Given the description of an element on the screen output the (x, y) to click on. 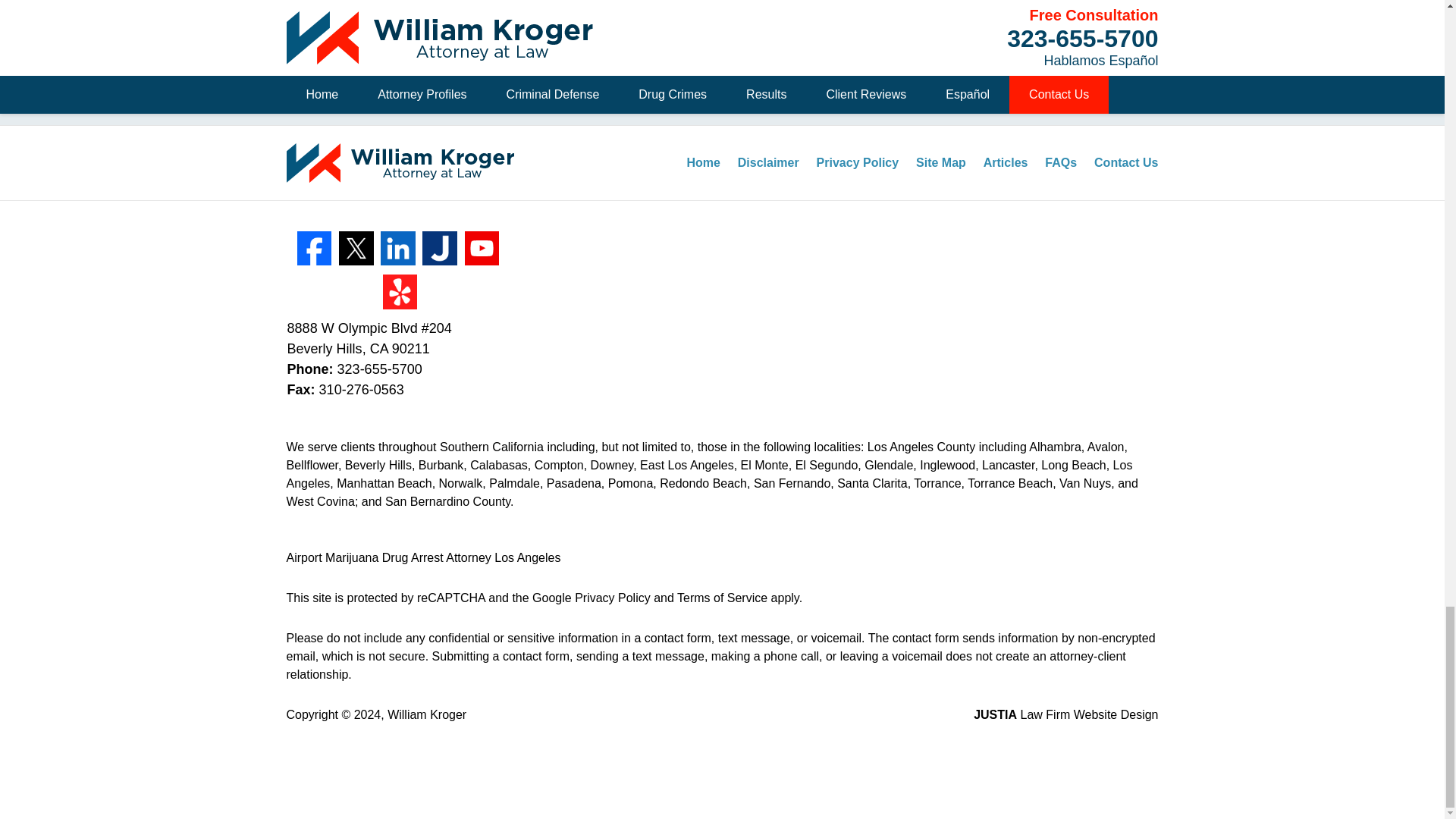
LinkedIn (397, 248)
Twitter (356, 248)
Justia (439, 248)
Facebook (314, 248)
YouTube (481, 248)
Yelp (399, 291)
